Given the description of an element on the screen output the (x, y) to click on. 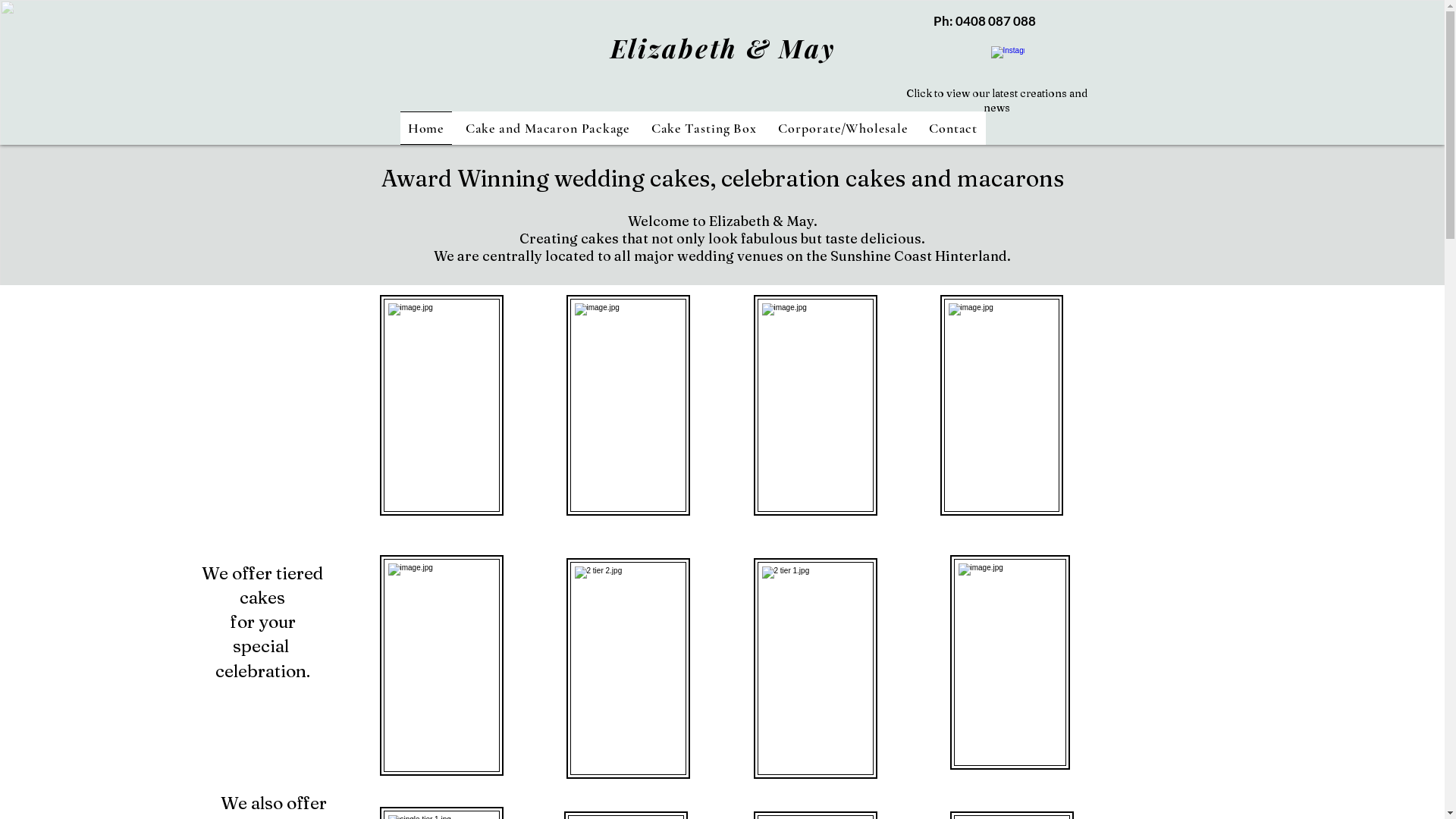
Cake and Macaron Package Element type: text (547, 127)
Home Element type: text (425, 127)
Corporate/Wholesale Element type: text (842, 127)
Cake Tasting Box Element type: text (703, 127)
Contact Element type: text (953, 127)
